Given the description of an element on the screen output the (x, y) to click on. 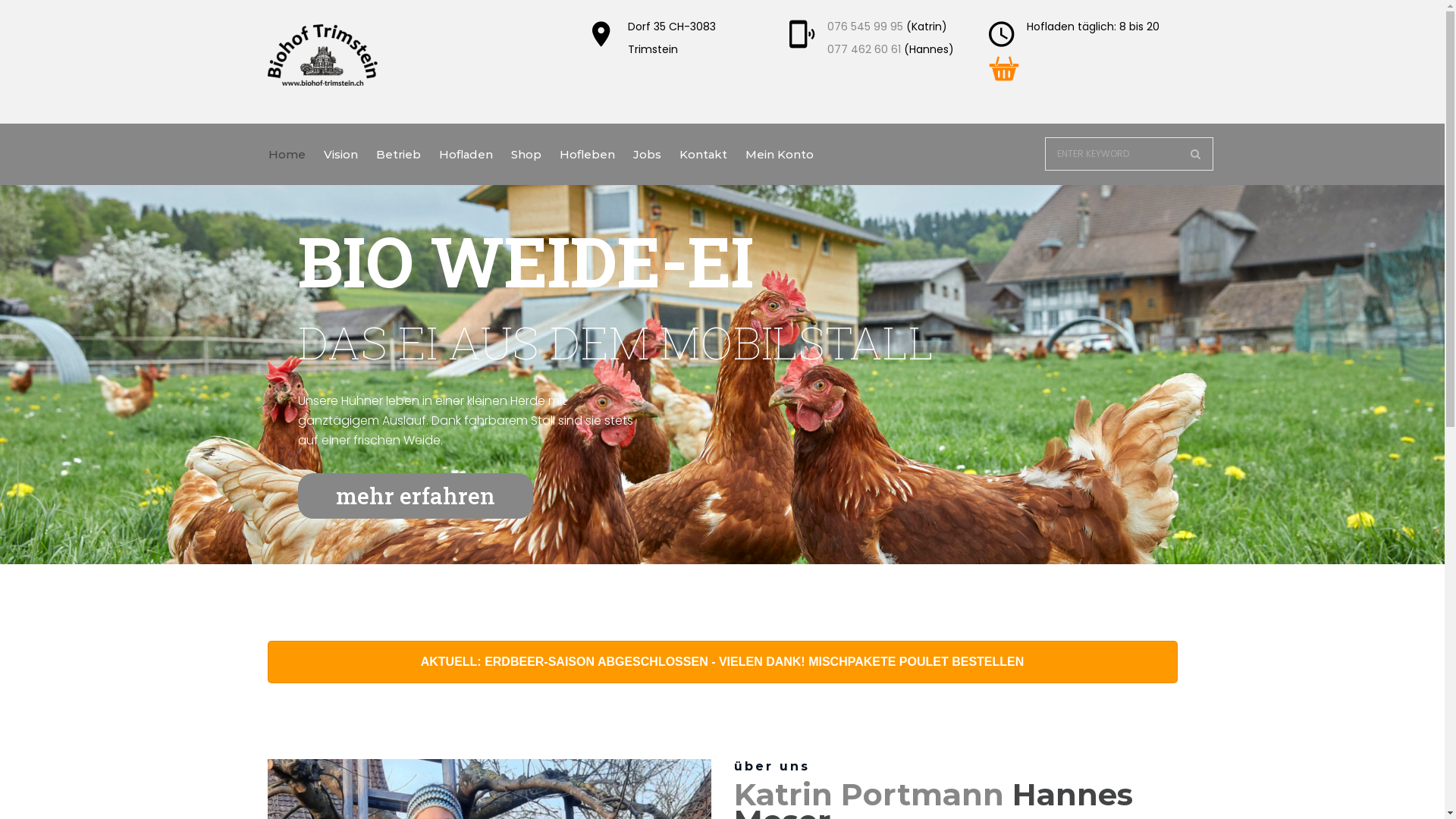
Kontakt Element type: text (702, 154)
Home Element type: text (286, 154)
Hofleben Element type: text (587, 154)
Jobs Element type: text (646, 154)
Mein Konto Element type: text (778, 154)
077 462 60 61 Element type: text (863, 48)
warenkorb-bioprodukte Element type: hover (1004, 60)
076 545 99 95 Element type: text (865, 26)
Betrieb Element type: text (398, 154)
Hofladen Element type: text (464, 154)
Vision Element type: text (339, 154)
Go Element type: text (1195, 153)
mehr erfahren Element type: text (414, 495)
Shop Element type: text (526, 154)
